Given the description of an element on the screen output the (x, y) to click on. 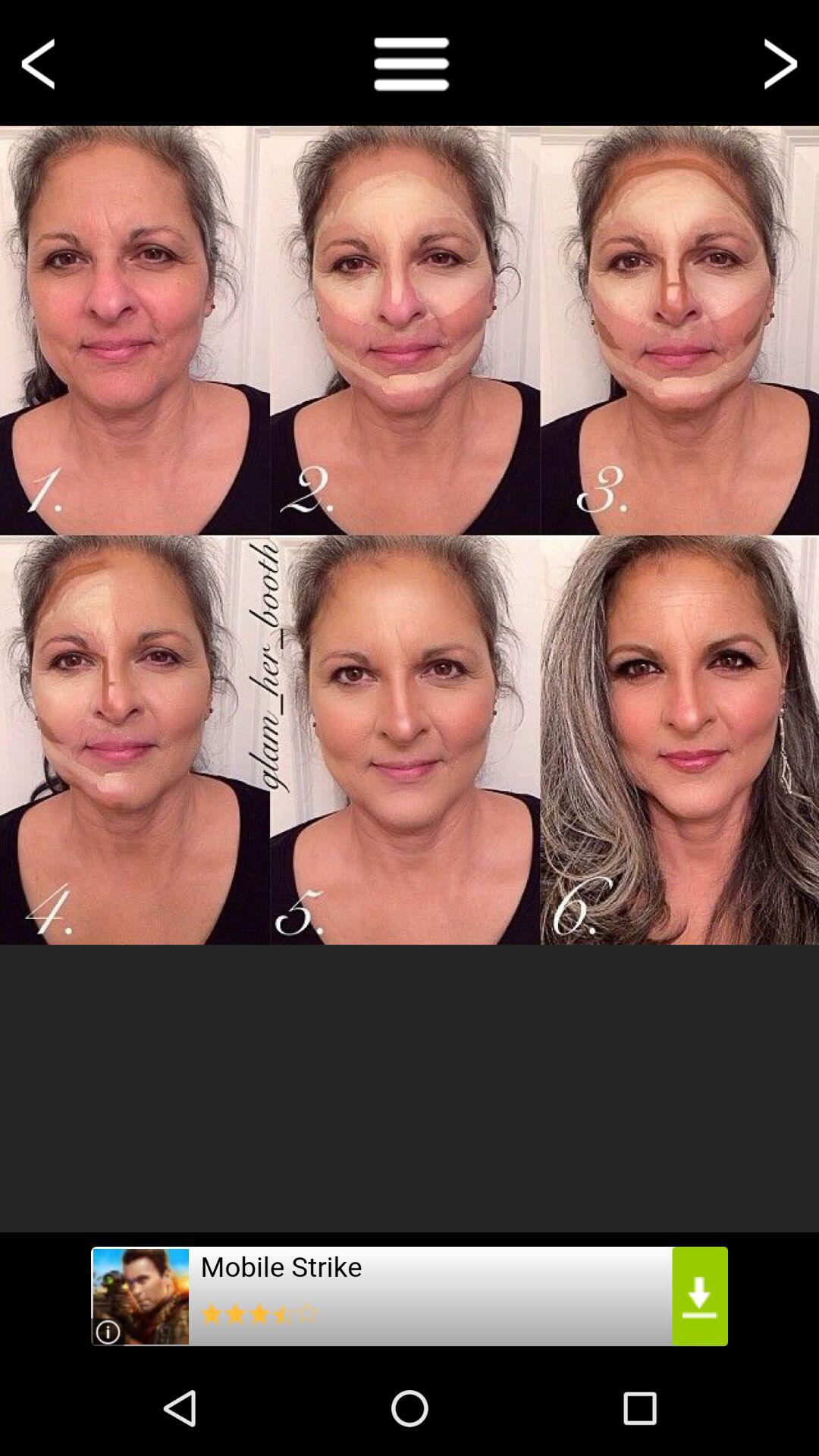
next page (778, 62)
